Given the description of an element on the screen output the (x, y) to click on. 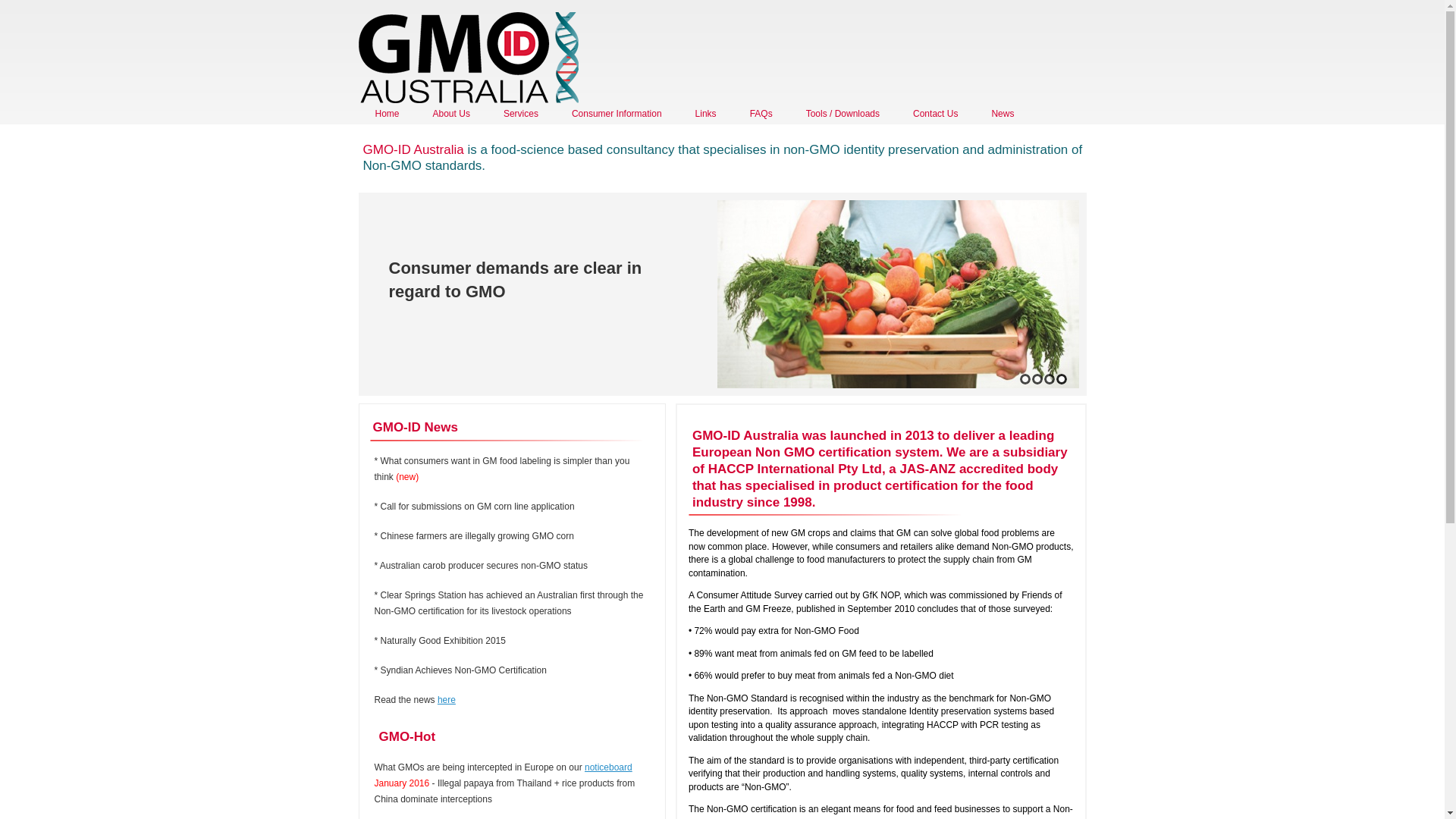
Services Element type: text (520, 114)
FAQs Element type: text (761, 114)
Home Element type: text (386, 114)
1 Element type: text (1024, 378)
here Element type: text (446, 699)
About Us Element type: text (451, 114)
3 Element type: text (1048, 378)
noticeboard Element type: text (608, 767)
4 Element type: text (1060, 378)
Home Element type: hover (467, 57)
Contact Us Element type: text (935, 114)
News Element type: text (1002, 114)
Consumer Information Element type: text (616, 114)
Tools / Downloads Element type: text (842, 114)
2 Element type: text (1036, 378)
Links Element type: text (705, 114)
